Given the description of an element on the screen output the (x, y) to click on. 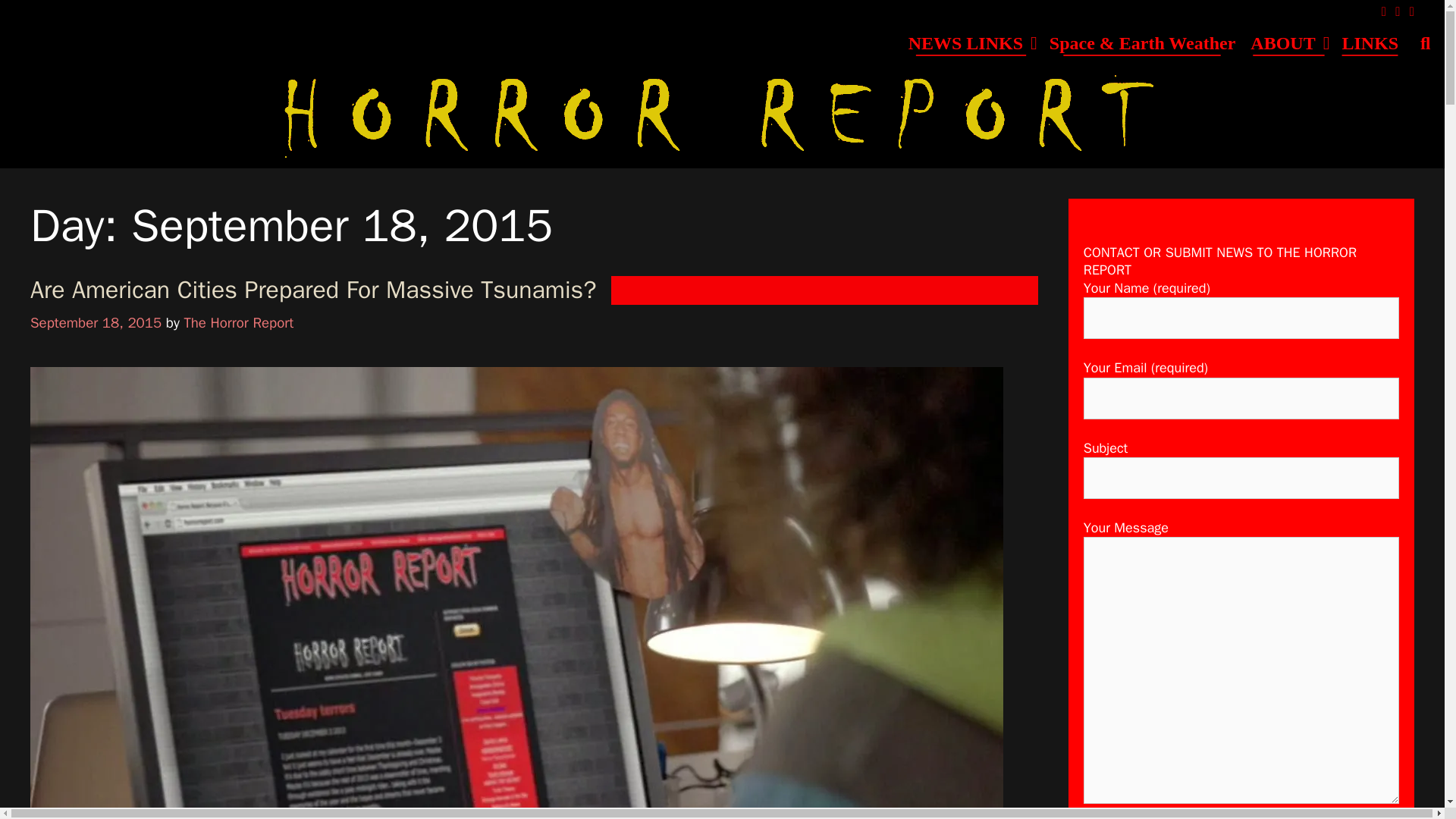
THE HORROR REPORT (721, 111)
LINKS (1369, 43)
View all posts by The Horror Report (238, 322)
The Horror Report (238, 322)
THE HORROR REPORT (721, 112)
Search (1425, 43)
Search (722, 18)
Search (1425, 43)
2:48 pm (95, 322)
ABOUT (1288, 43)
